Given the description of an element on the screen output the (x, y) to click on. 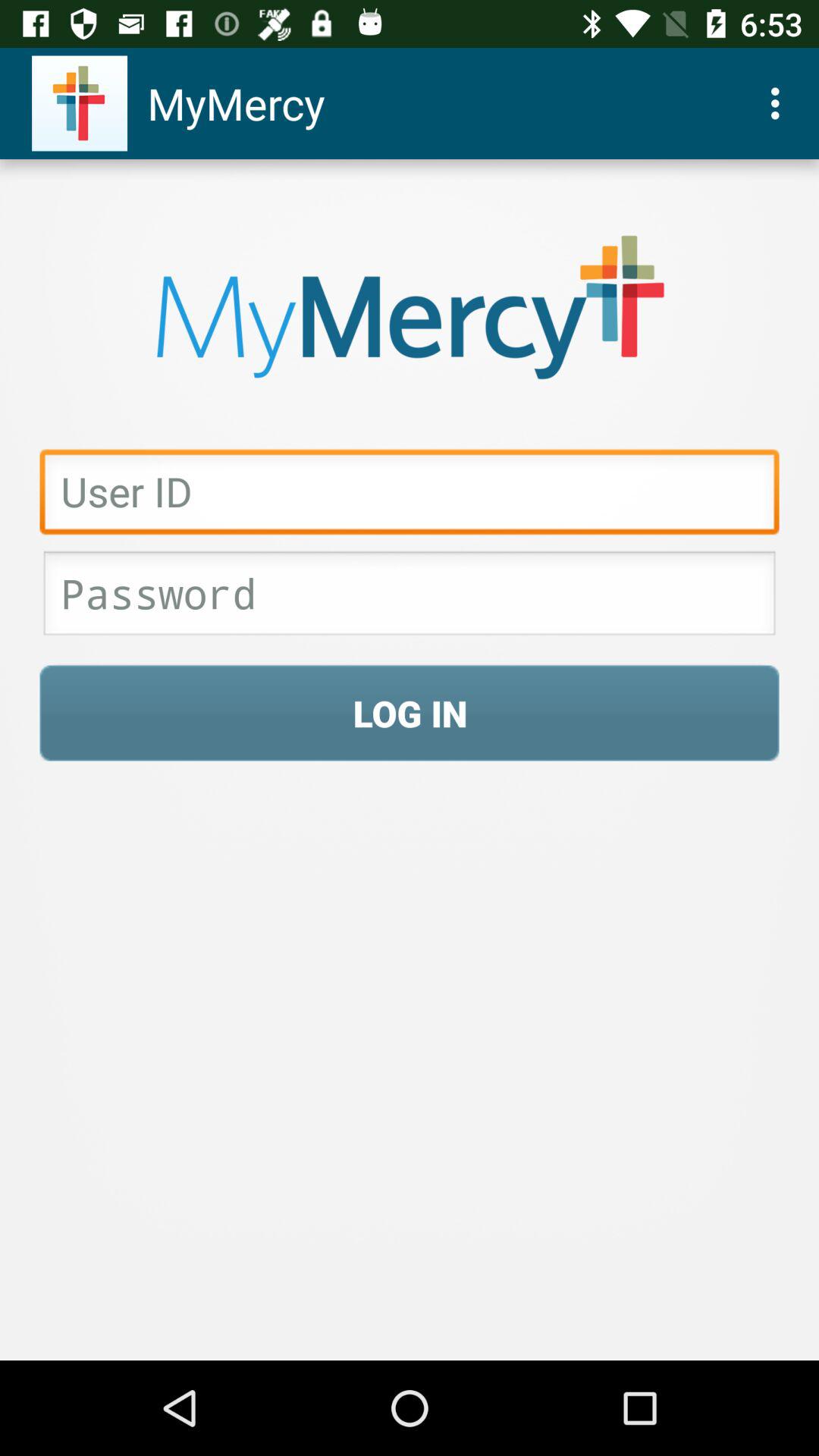
input password (409, 597)
